Given the description of an element on the screen output the (x, y) to click on. 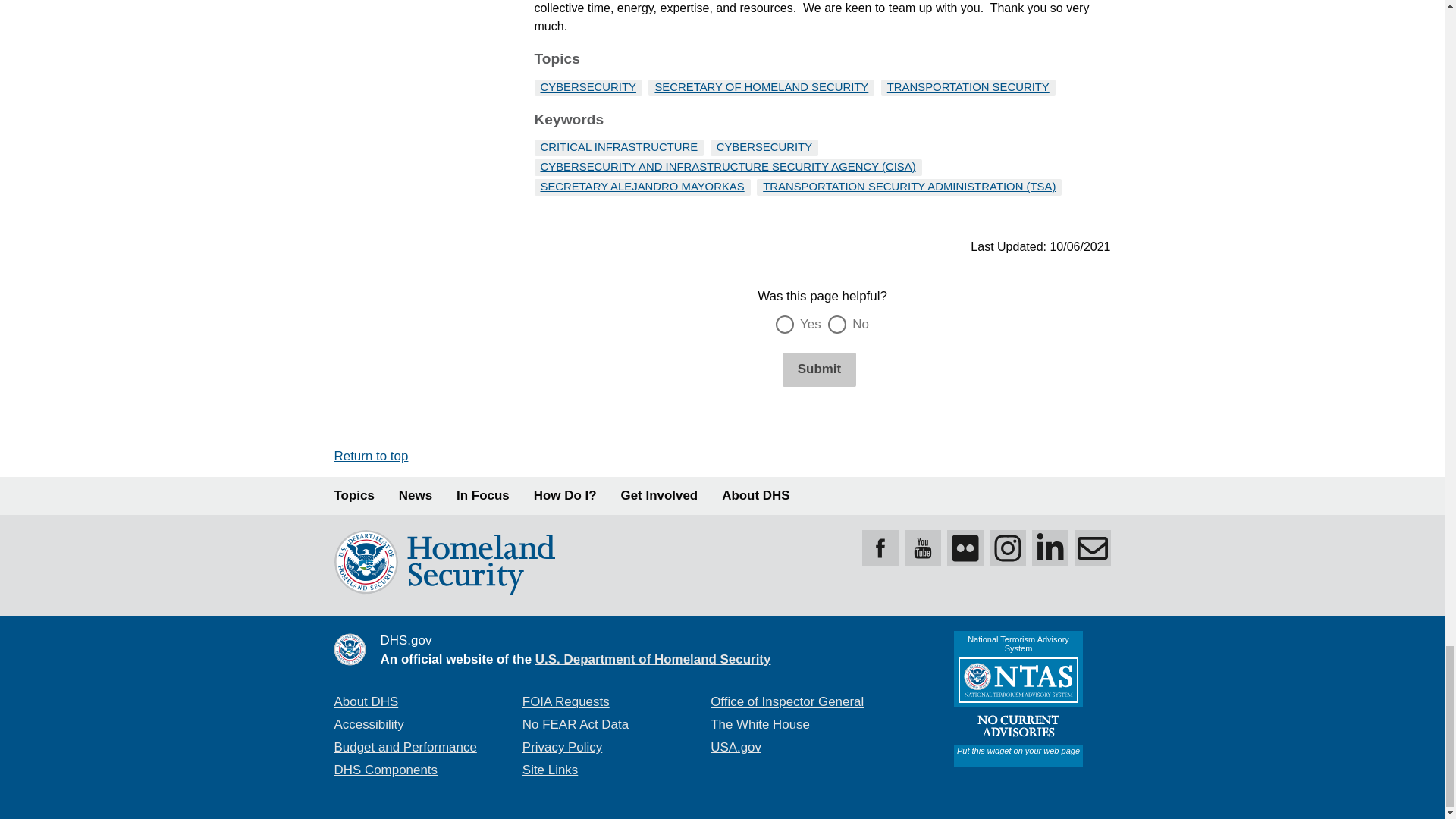
USA.gov (735, 747)
DHS Components (385, 769)
Submit (819, 368)
The White House (759, 724)
National Terrorism Advisory System (1018, 698)
Submit (819, 368)
Get Involved (659, 495)
Topics (353, 495)
Office of the Inspector General (786, 701)
